Given the description of an element on the screen output the (x, y) to click on. 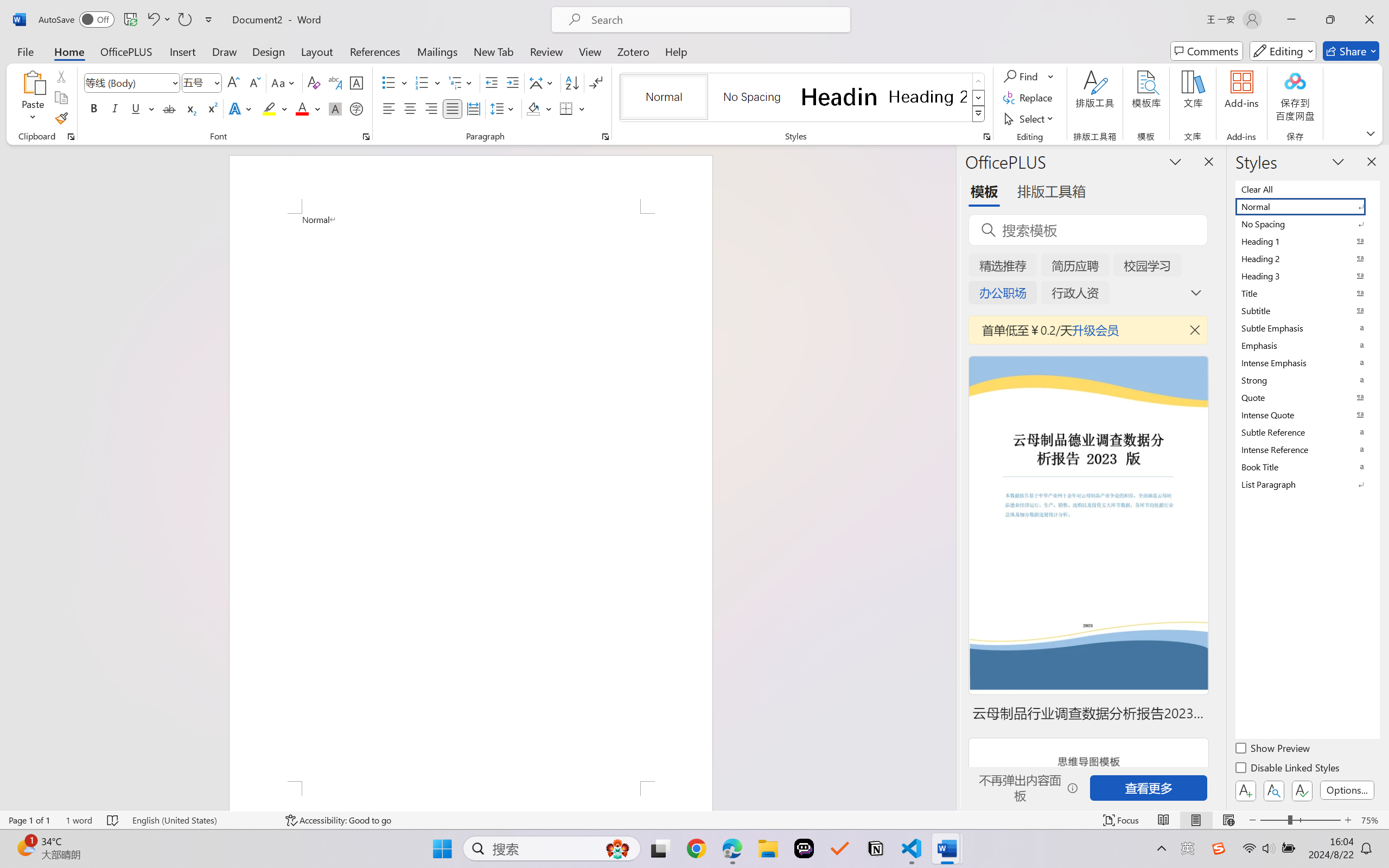
Sort... (571, 82)
References (375, 51)
Decrease Indent (491, 82)
Design (268, 51)
Mailings (437, 51)
Zoom (1300, 819)
Accessibility Checker Accessibility: Good to go (338, 819)
OfficePLUS (126, 51)
Find (1029, 75)
Line and Paragraph Spacing (503, 108)
